Given the description of an element on the screen output the (x, y) to click on. 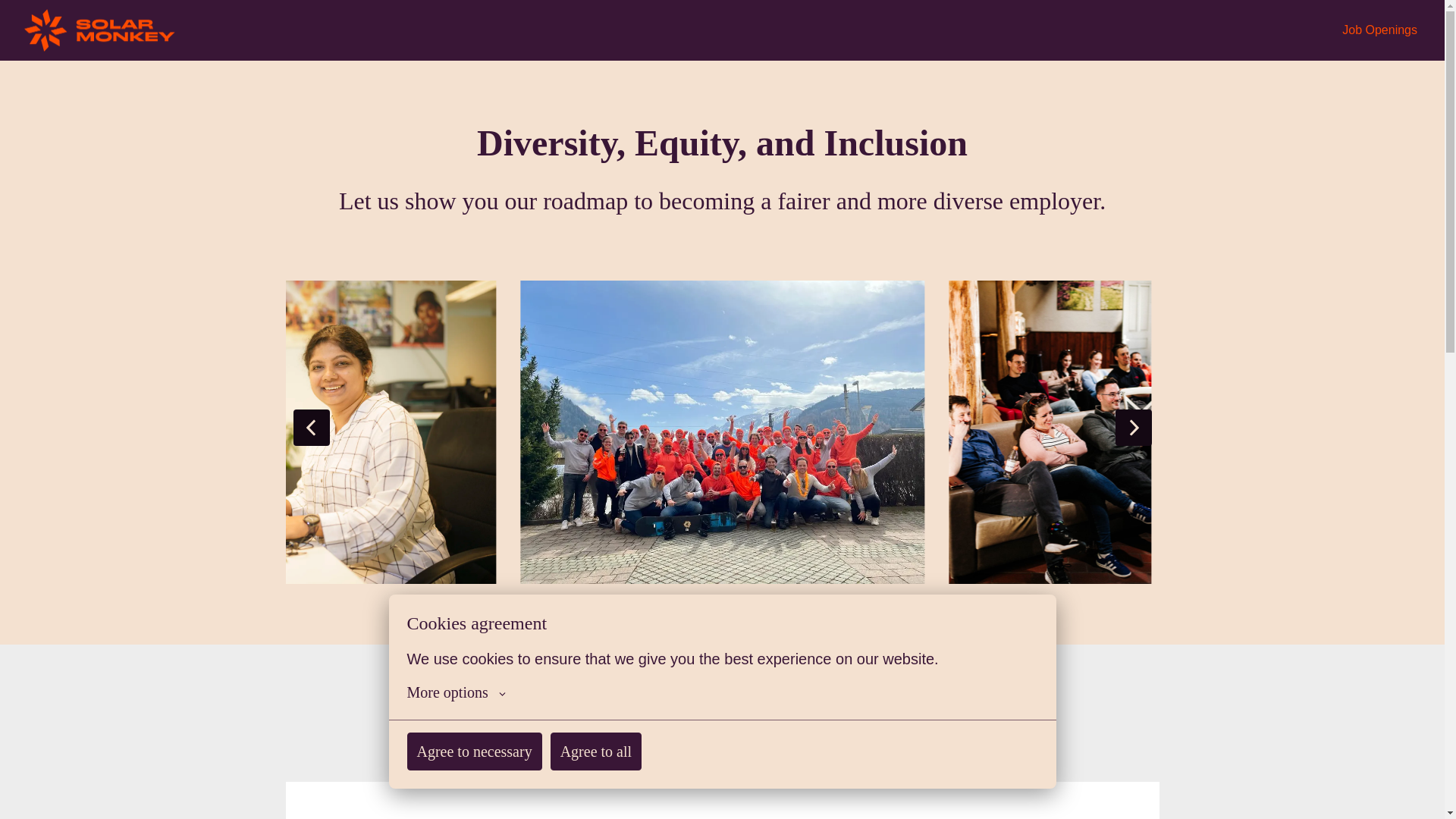
More options (455, 707)
Job Openings (1379, 30)
Agree to all (596, 765)
Agree to necessary (473, 766)
Homepage (99, 30)
